Given the description of an element on the screen output the (x, y) to click on. 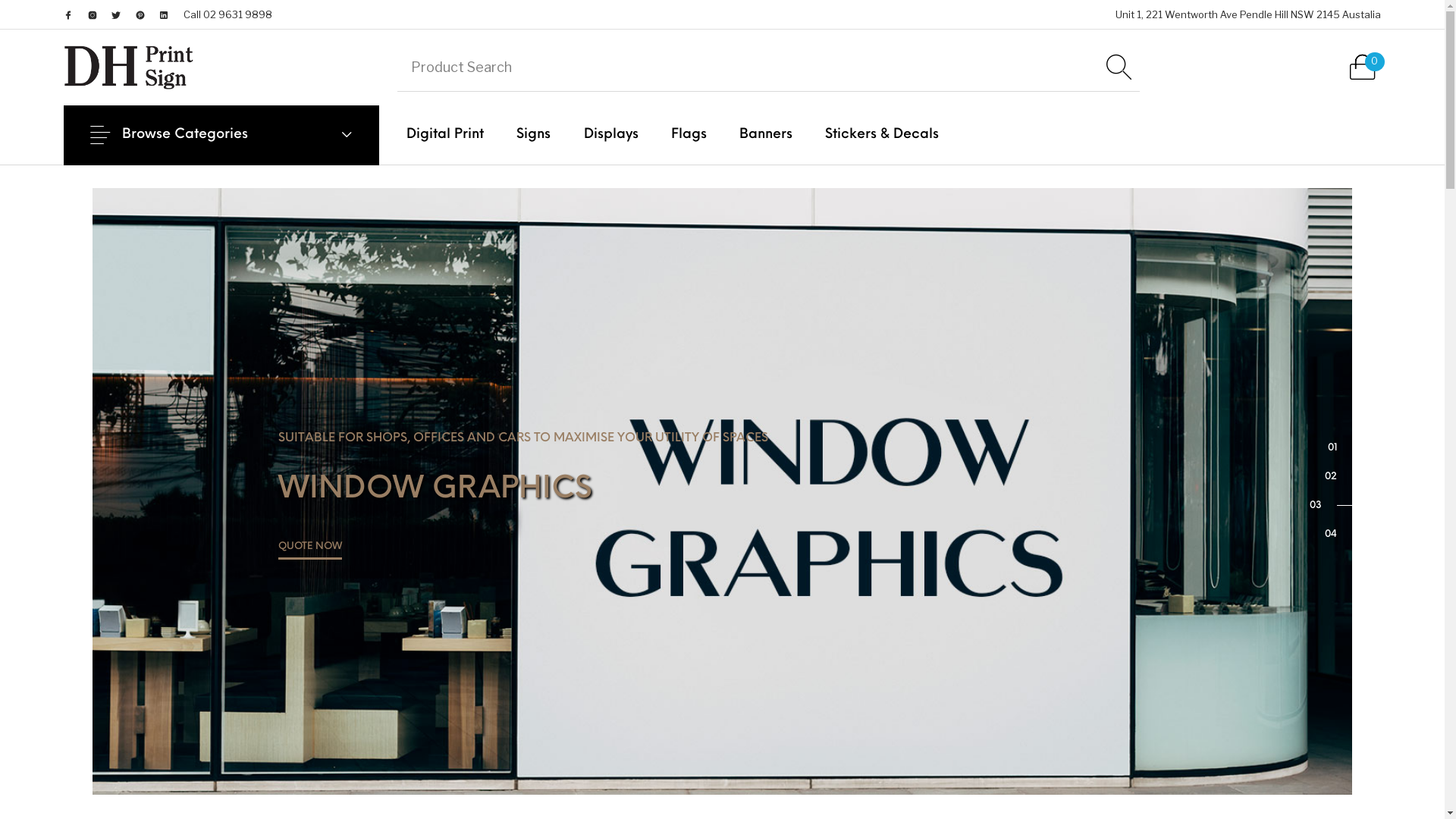
Display Hub Element type: hover (128, 67)
0 Element type: text (1362, 67)
Stickers & Decals Element type: text (882, 135)
Digital Print Element type: text (445, 135)
Banners Element type: text (765, 135)
Displays Element type: text (610, 135)
Browse Categories Element type: text (221, 135)
ENQUIRE NOW Element type: text (315, 641)
Signs Element type: text (533, 135)
Flags Element type: text (688, 135)
